Given the description of an element on the screen output the (x, y) to click on. 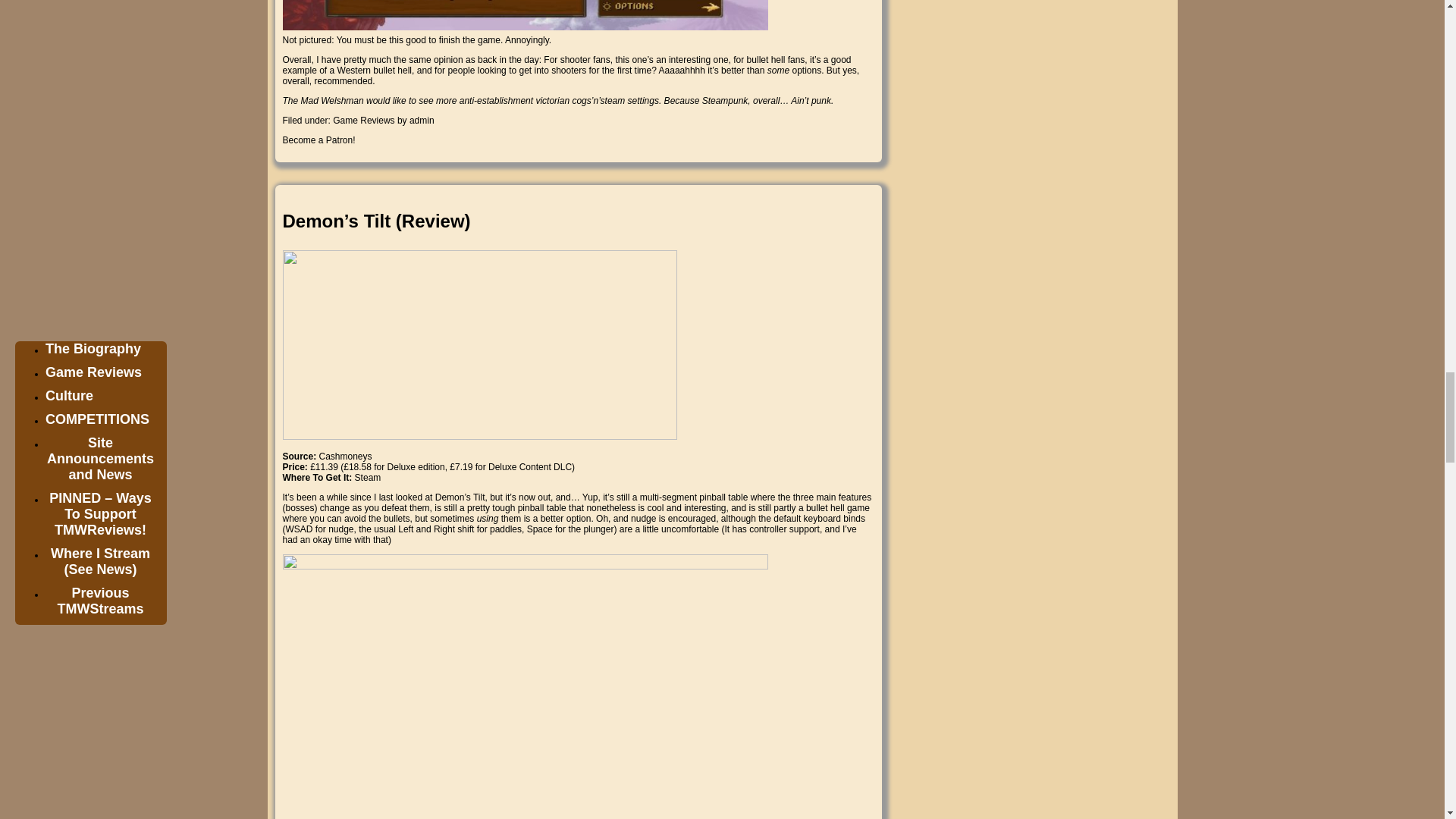
Become a Patron! (318, 140)
Game Reviews (363, 120)
